Given the description of an element on the screen output the (x, y) to click on. 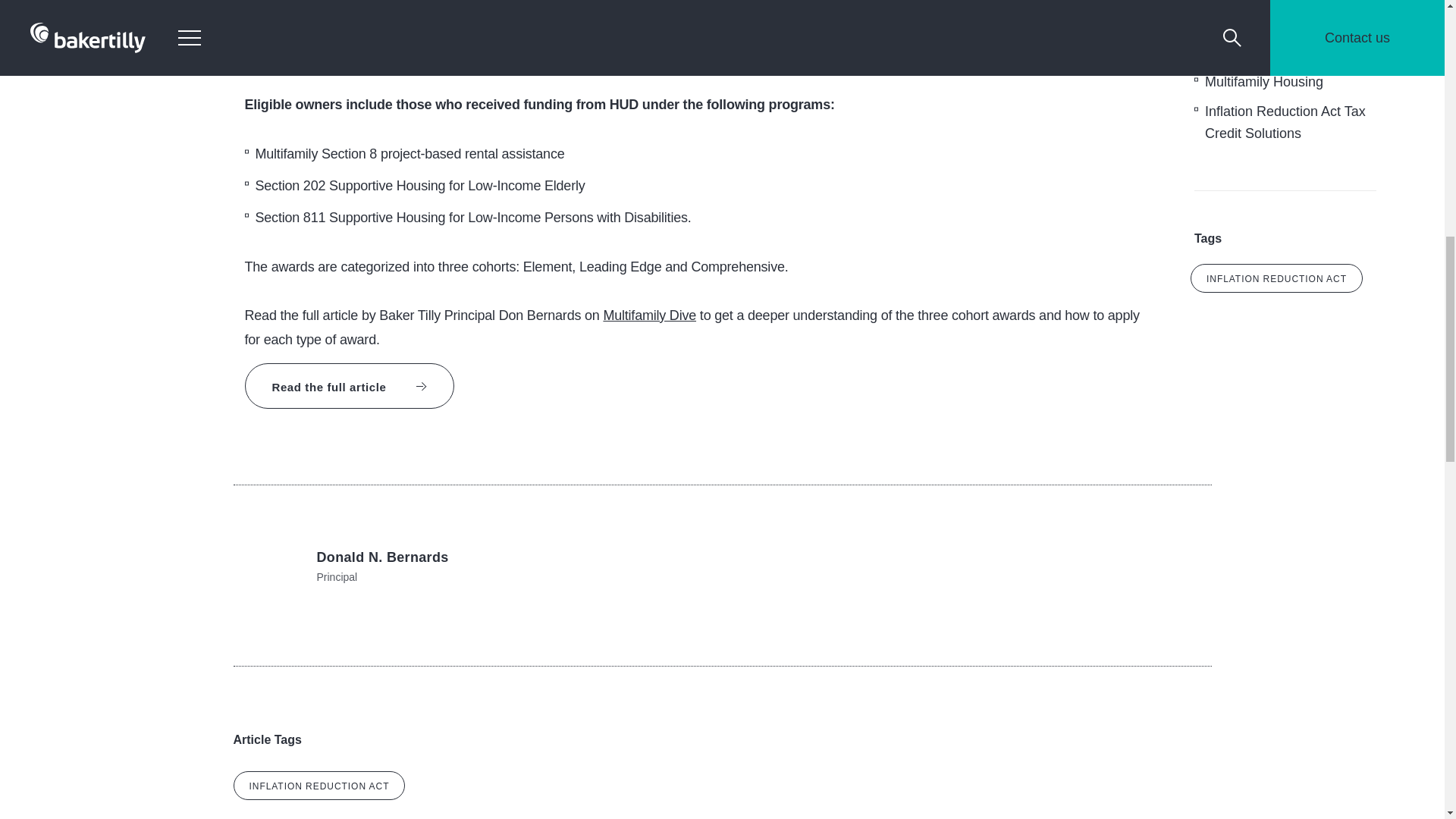
Multifamily Dive (648, 314)
Multifamily Housing (1264, 81)
INFLATION REDUCTION ACT (319, 785)
Real Estate (1240, 51)
INFLATION REDUCTION ACT (1276, 277)
Read the full article (349, 385)
Inflation Reduction Act Tax Credit Solutions (1285, 122)
